Given the description of an element on the screen output the (x, y) to click on. 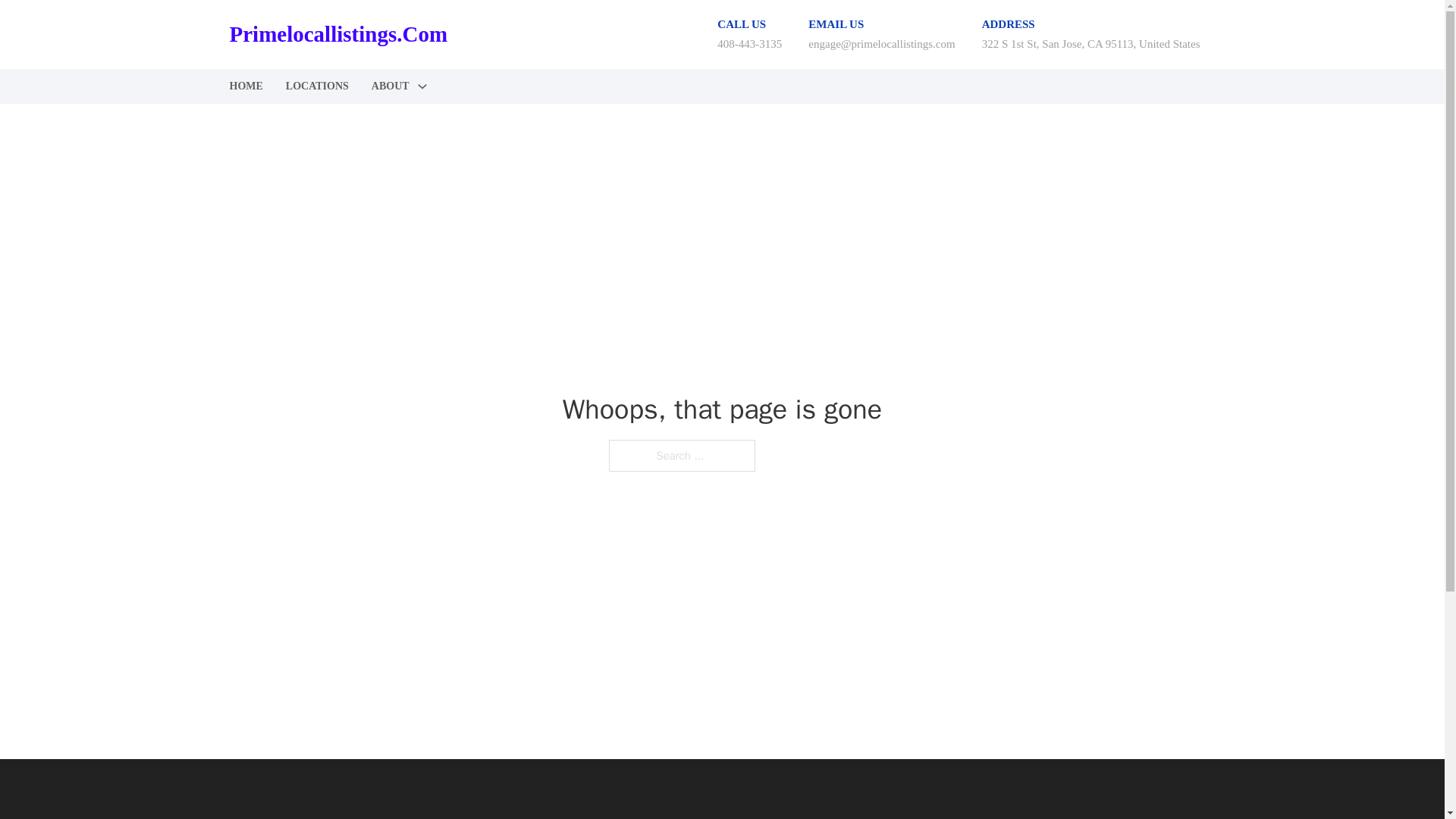
408-443-3135 (749, 43)
Primelocallistings.Com (337, 34)
LOCATIONS (317, 85)
HOME (245, 85)
